Given the description of an element on the screen output the (x, y) to click on. 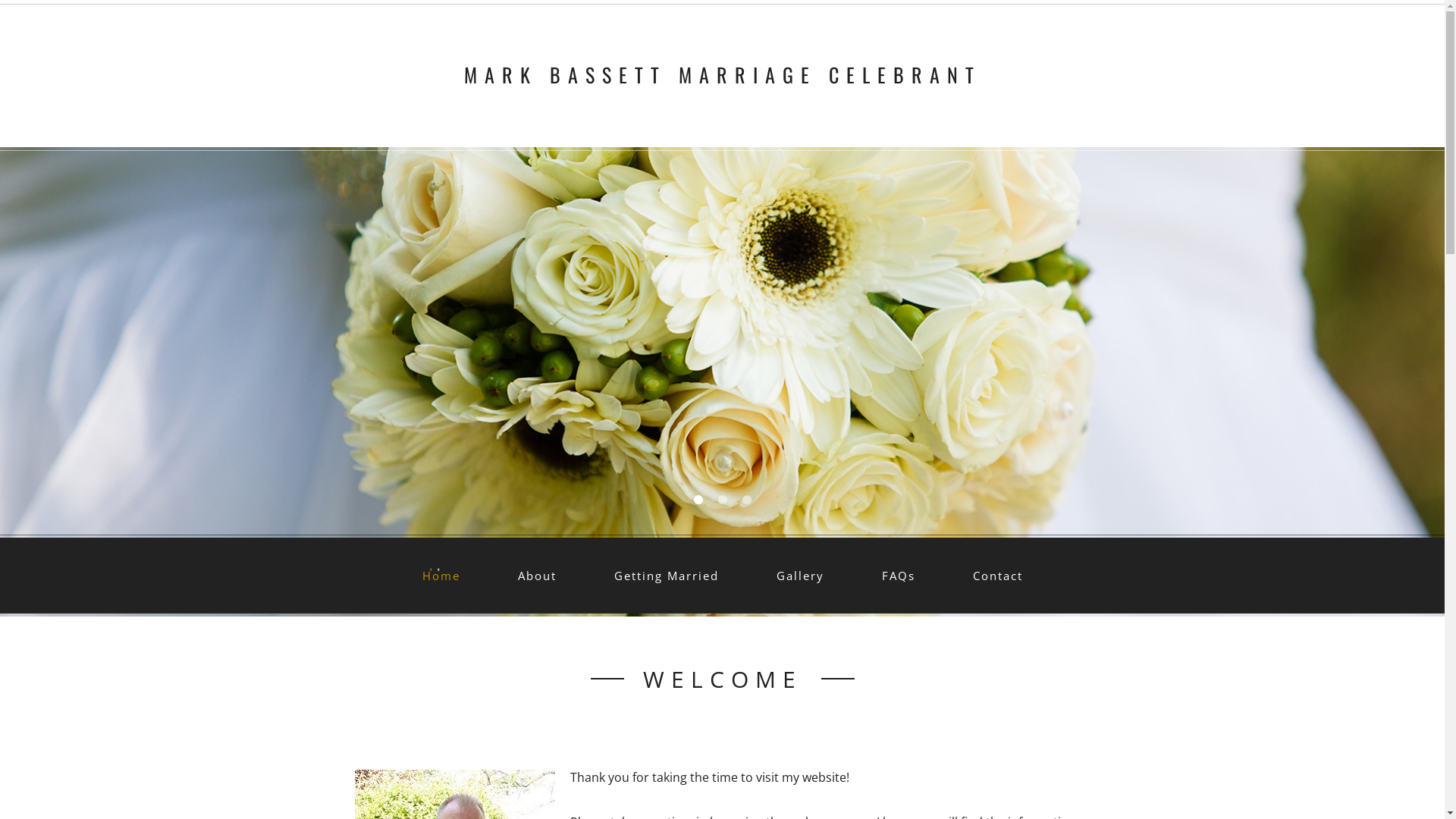
Contact Element type: text (997, 575)
FAQs Element type: text (898, 575)
About Element type: text (536, 575)
Home Element type: text (441, 575)
MARK BASSETT MARRIAGE CELEBRANT Element type: text (722, 74)
Gallery Element type: text (799, 575)
Getting Married Element type: text (665, 575)
